Given the description of an element on the screen output the (x, y) to click on. 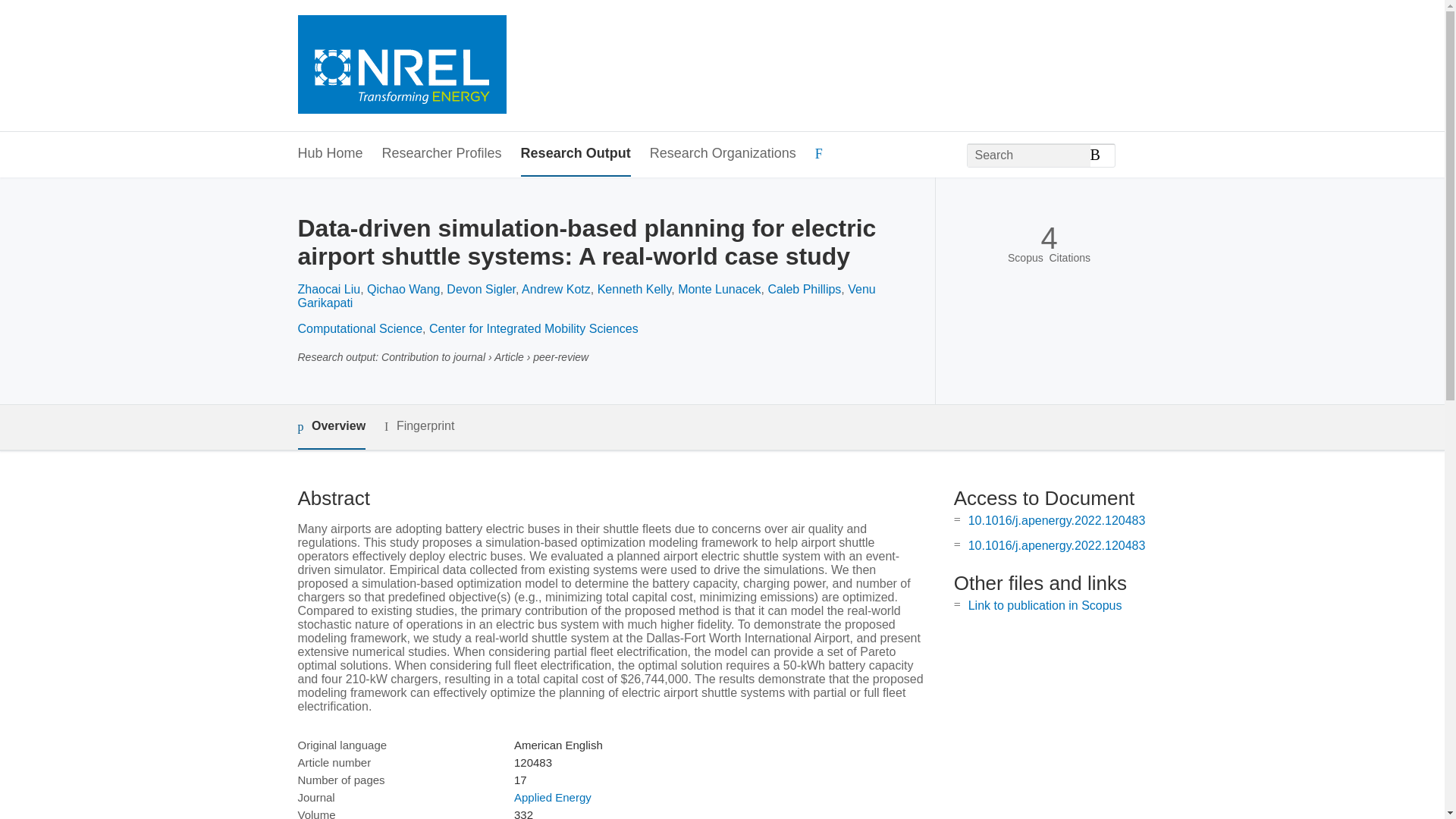
Computational Science (359, 328)
Researcher Profiles (441, 153)
Caleb Phillips (804, 288)
Qichao Wang (402, 288)
Research Organizations (722, 153)
Fingerprint (419, 425)
National Renewable Energy Laboratory Hub Home (401, 66)
Andrew Kotz (556, 288)
Applied Energy (552, 797)
Overview (331, 426)
Center for Integrated Mobility Sciences (534, 328)
Link to publication in Scopus (1045, 604)
Research Output (575, 153)
Devon Sigler (480, 288)
Zhaocai Liu (328, 288)
